Given the description of an element on the screen output the (x, y) to click on. 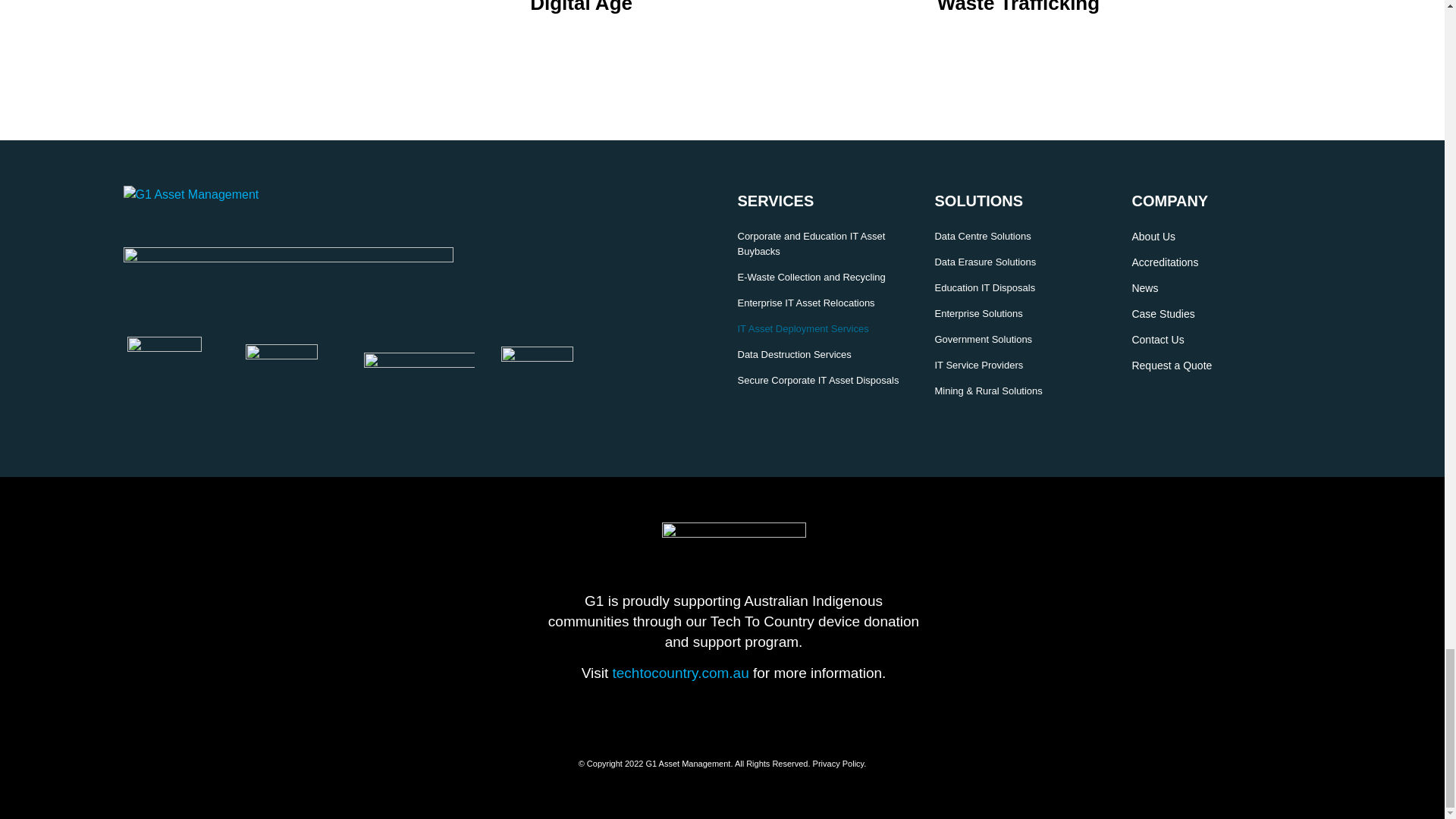
G1AM-Logo-2022-Rev-Retina (217, 194)
